Given the description of an element on the screen output the (x, y) to click on. 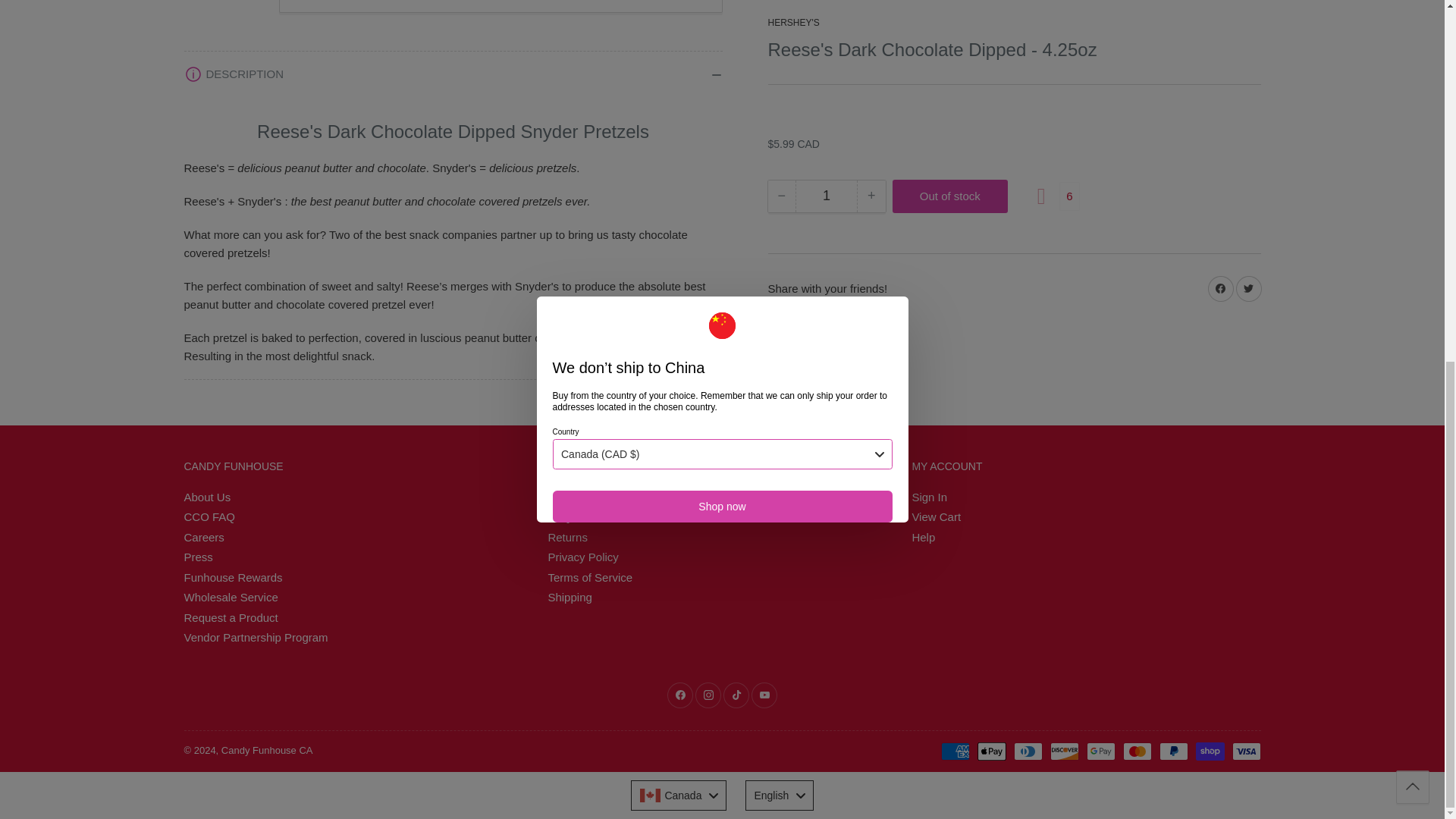
Load image 1 in gallery view (223, 6)
